Given the description of an element on the screen output the (x, y) to click on. 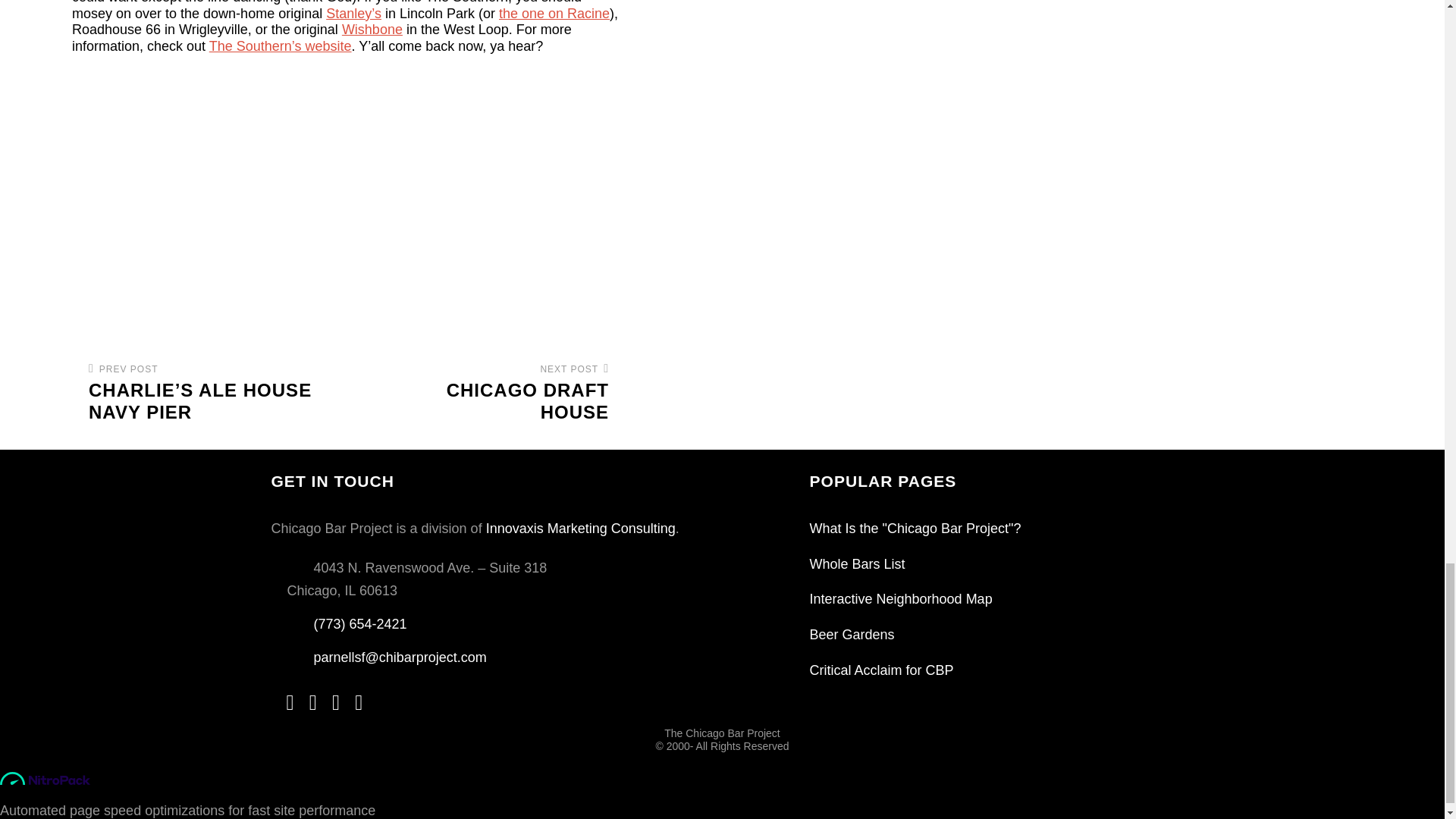
the one on Racine (494, 393)
Wishbone (554, 13)
